Given the description of an element on the screen output the (x, y) to click on. 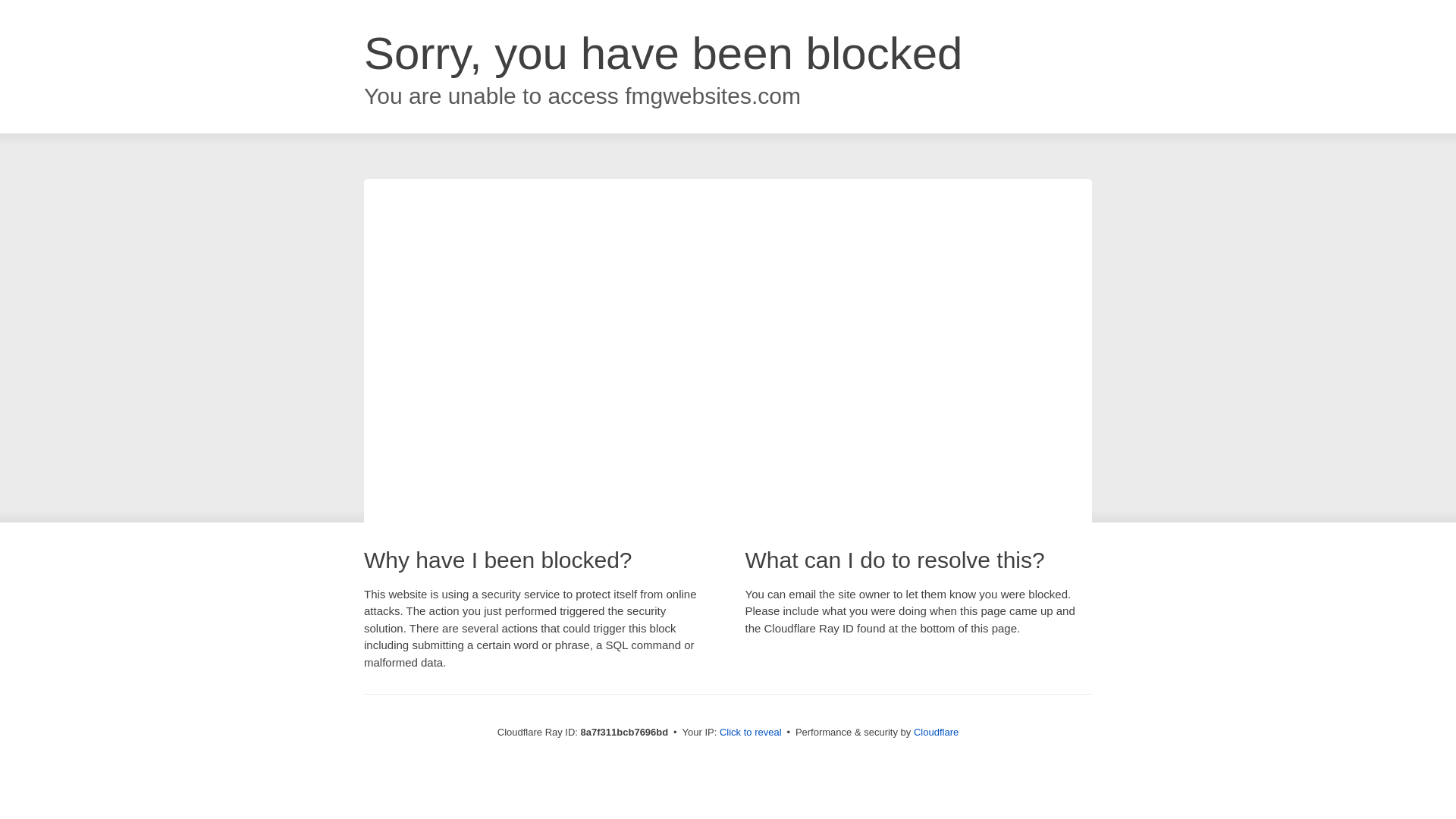
Cloudflare (936, 731)
Click to reveal (750, 732)
